Given the description of an element on the screen output the (x, y) to click on. 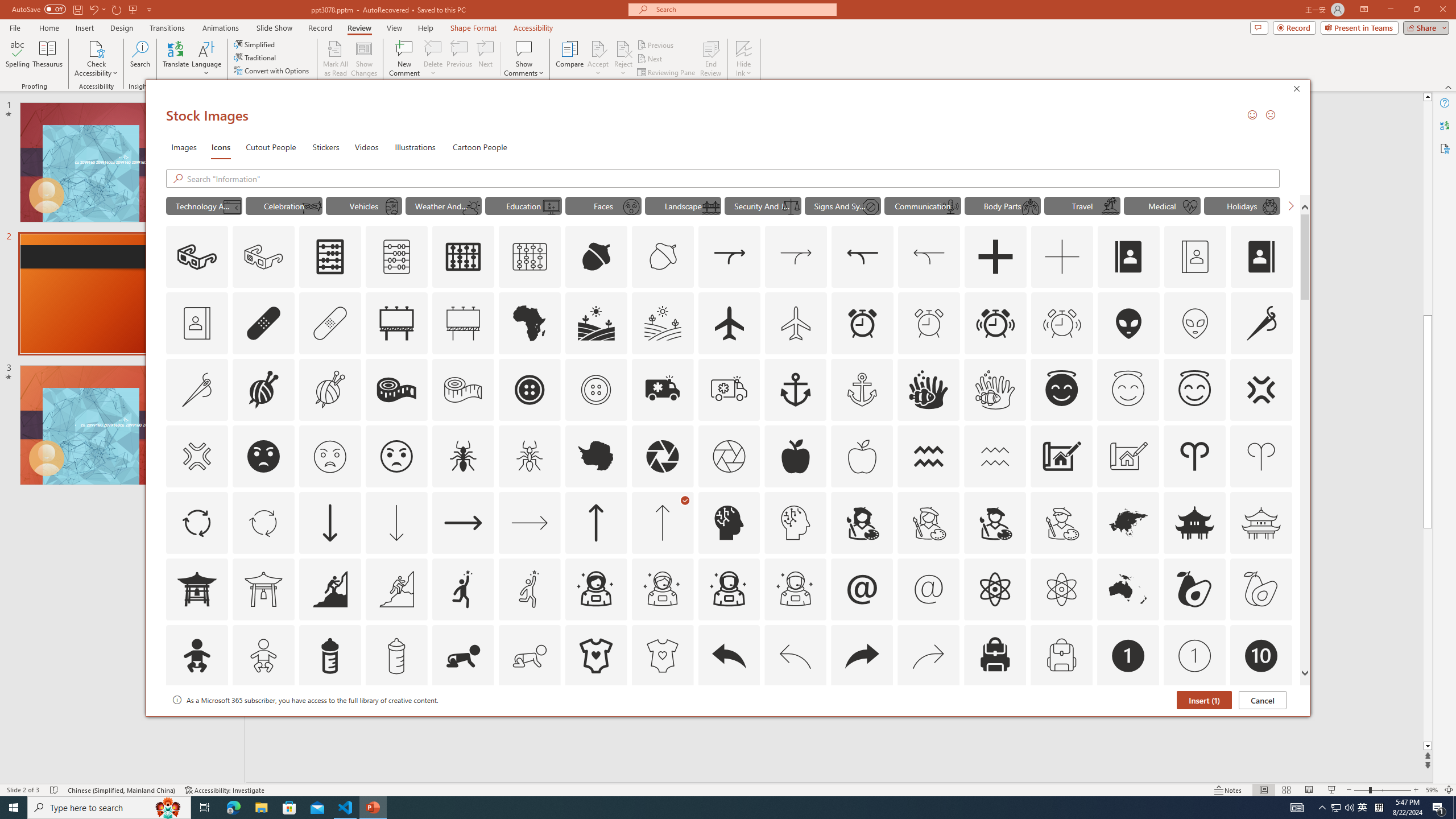
AutomationID: Icons_AstronautMale_M (795, 588)
AutomationID: Icons_AsianTemple (1194, 522)
AutomationID: Icons_Aries (1194, 455)
AutomationID: Icons_Badge4_M (595, 721)
AutomationID: Icons_Badge3 (395, 721)
AutomationID: Icons_AsianTemple_M (1260, 522)
